Given the description of an element on the screen output the (x, y) to click on. 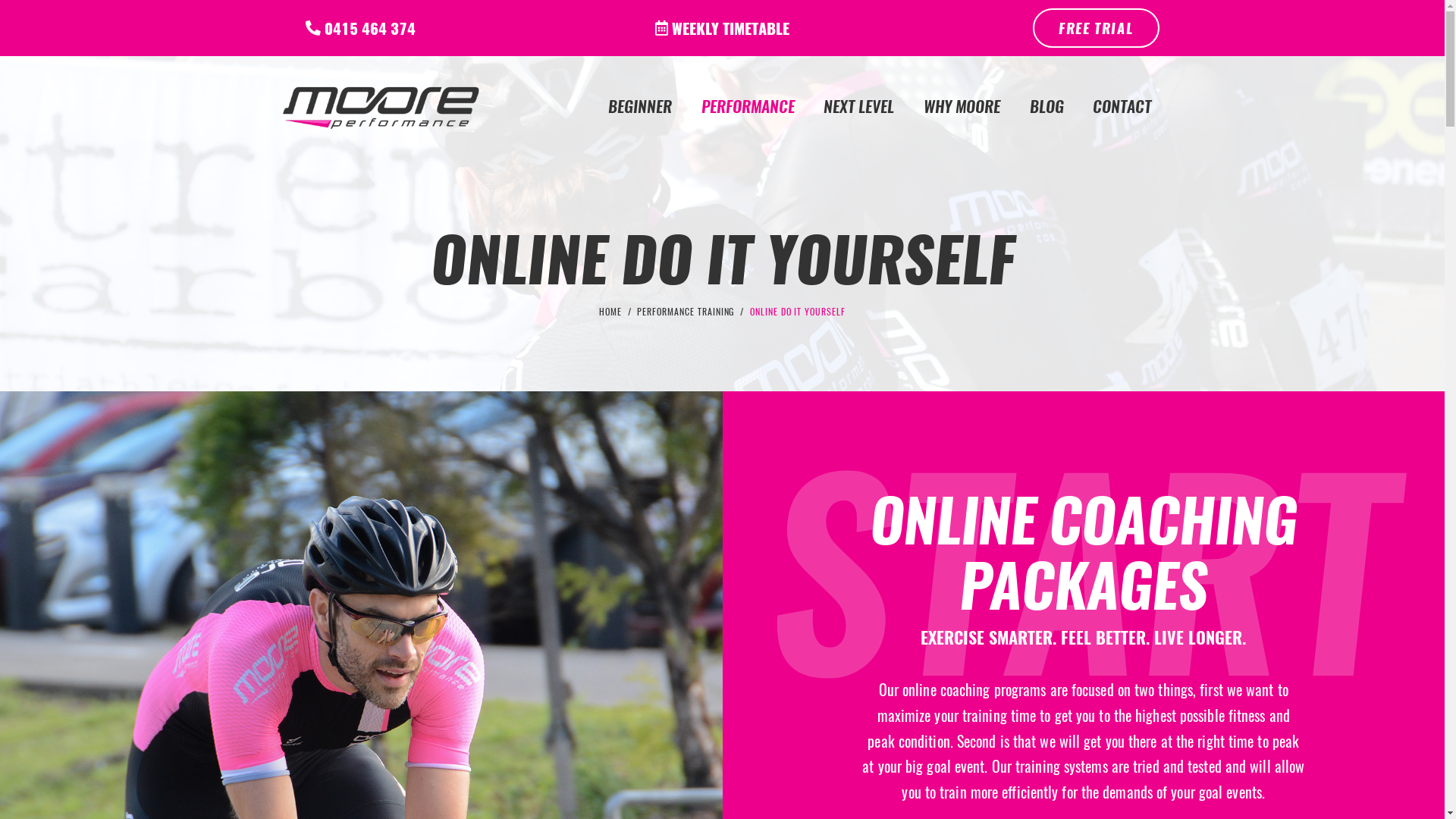
WHY MOORE Element type: text (962, 105)
0415 464 374 Element type: text (360, 27)
WEEKLY TIMETABLE Element type: text (721, 27)
NEXT LEVEL Element type: text (859, 105)
CONTACT Element type: text (1122, 105)
FREE TRIAL Element type: text (1095, 28)
BEGINNER Element type: text (640, 105)
BLOG Element type: text (1046, 105)
PERFORMANCE Element type: text (747, 105)
PERFORMANCE TRAINING Element type: text (685, 311)
HOME Element type: text (610, 311)
